Given the description of an element on the screen output the (x, y) to click on. 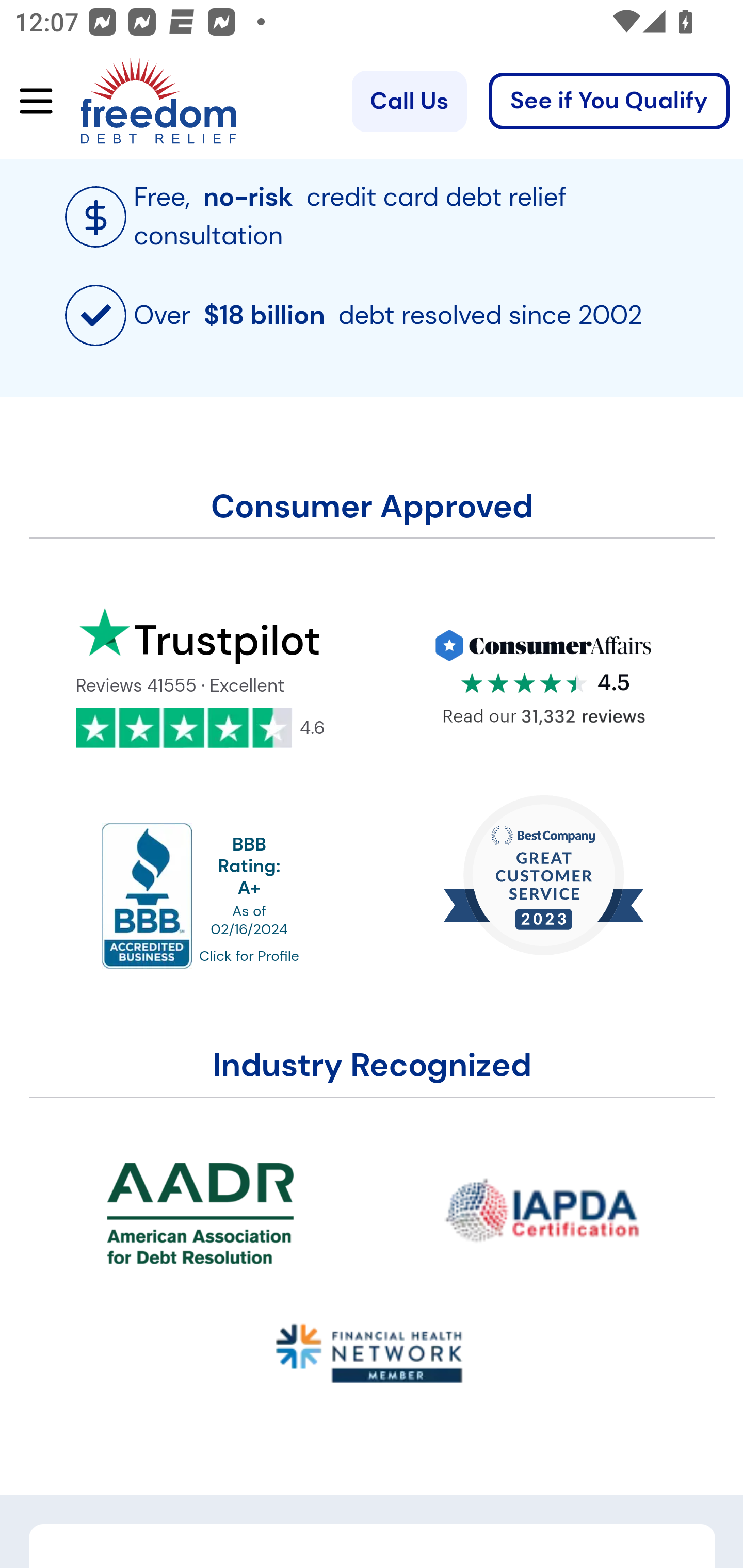
Freedom Debt Relief (130, 101)
Call Us (408, 100)
See if You Qualify (609, 101)
menu toggle (28, 100)
American Association for Debt Resolution (200, 1213)
